Given the description of an element on the screen output the (x, y) to click on. 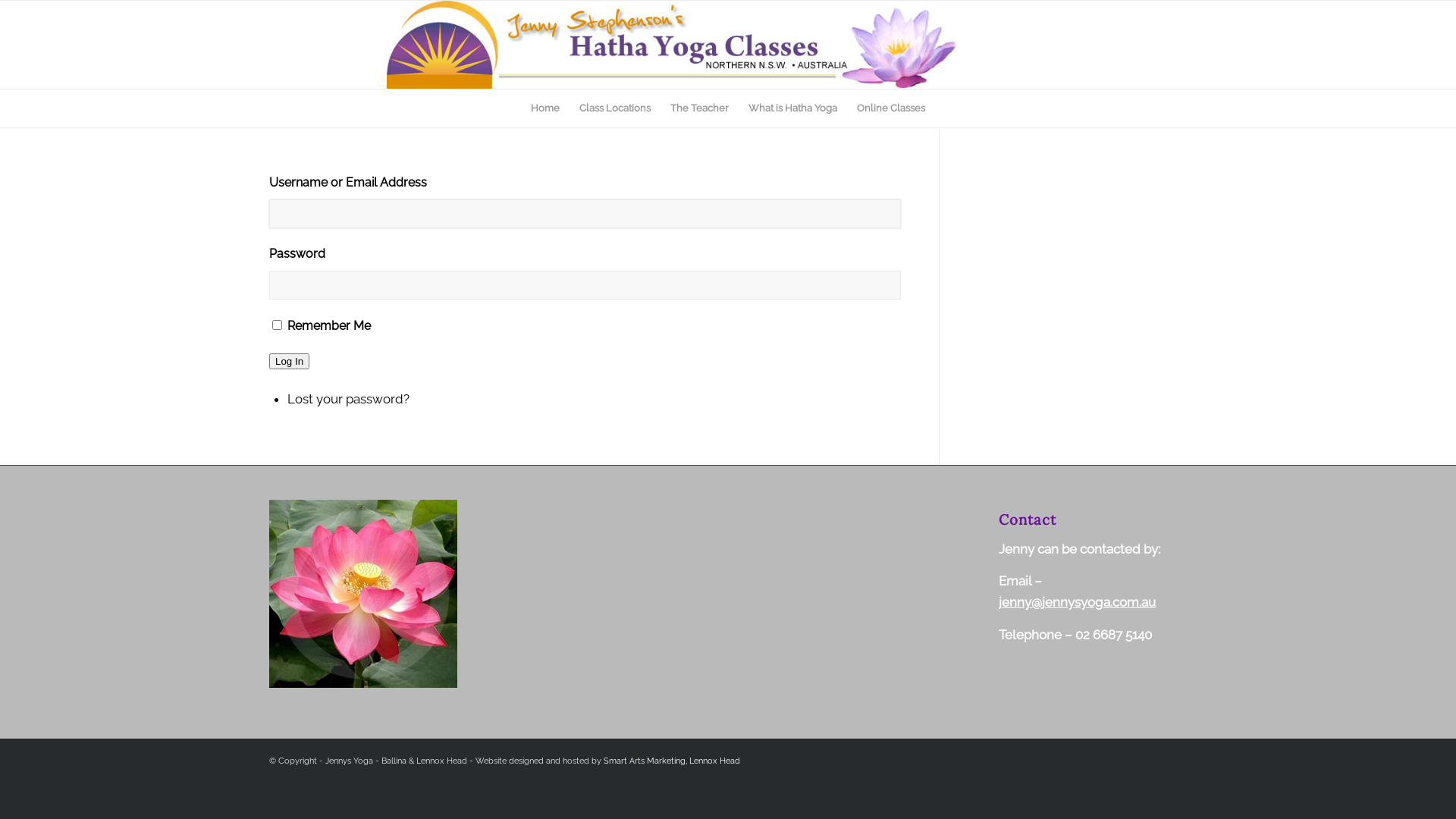
Online Classes Element type: text (891, 108)
What is Hatha Yoga Element type: text (792, 108)
jenny@jennysyoga.com.au Element type: text (1076, 601)
The Teacher Element type: text (699, 108)
Smart Arts Marketing, Lennox Head Element type: text (671, 760)
Lost your password? Element type: text (348, 398)
Class Locations Element type: text (614, 108)
Home Element type: text (544, 108)
top-logo Element type: hover (673, 44)
Log In Element type: text (289, 361)
